Given the description of an element on the screen output the (x, y) to click on. 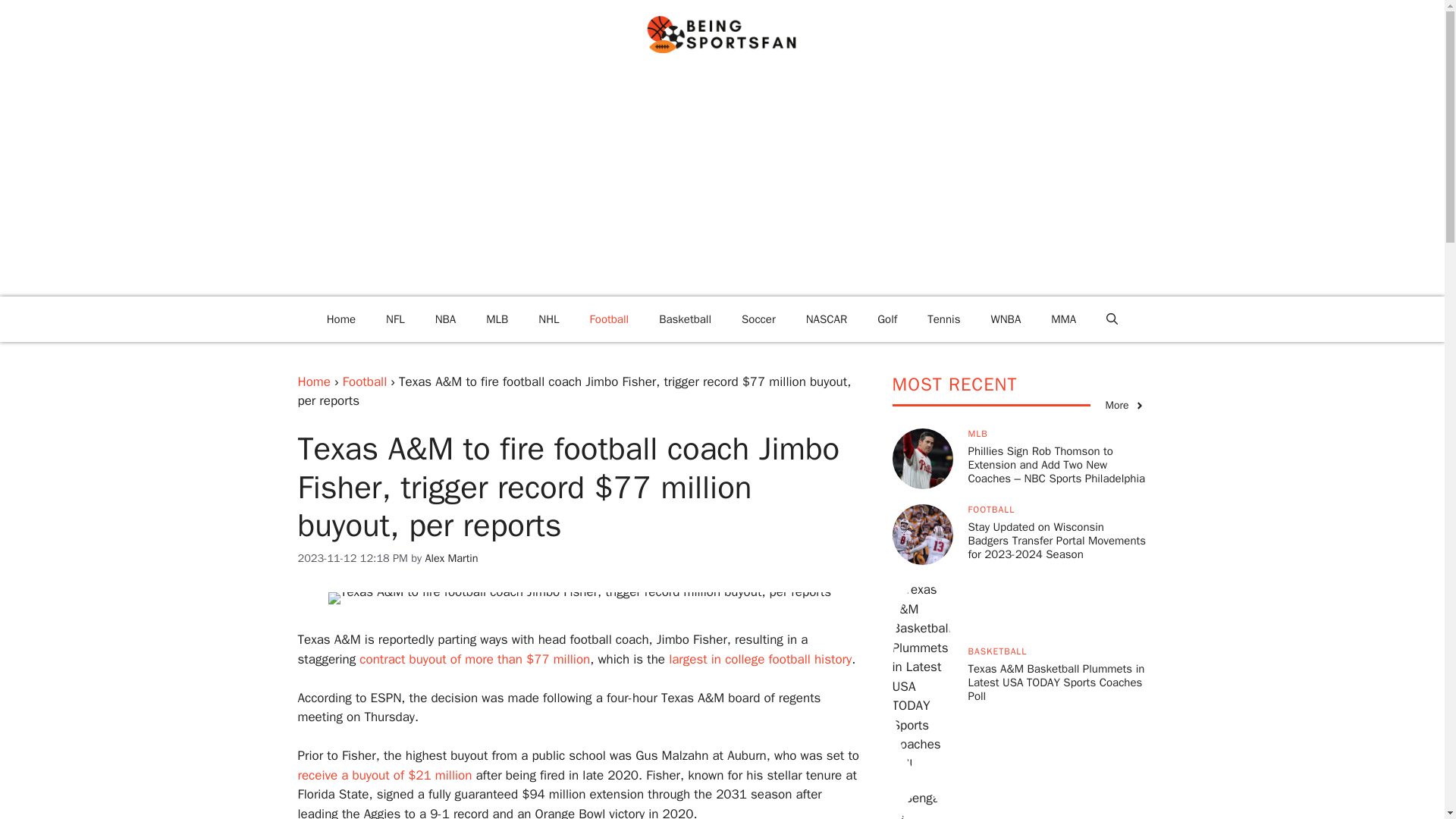
Home (313, 381)
View all posts by Alex Martin (451, 558)
MLB (496, 319)
Golf (886, 319)
Soccer (758, 319)
NBA (445, 319)
Football (364, 381)
NFL (395, 319)
largest in college football history (759, 659)
NHL (547, 319)
Tennis (943, 319)
Basketball (684, 319)
Alex Martin (451, 558)
NASCAR (826, 319)
Football (610, 319)
